Given the description of an element on the screen output the (x, y) to click on. 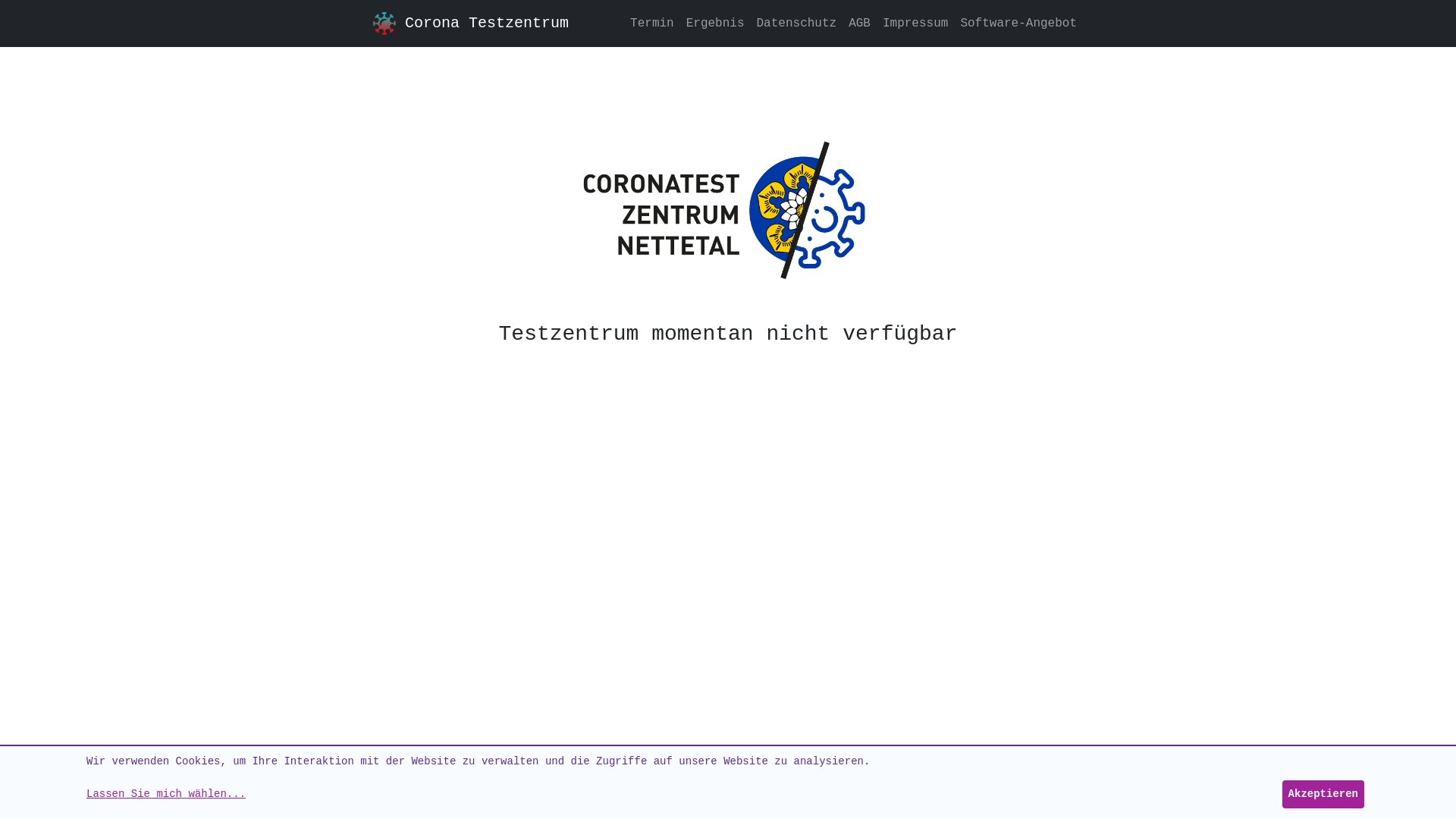
Corona Testzentrum Element type: text (486, 23)
Datenschutz Element type: text (796, 23)
Akzeptieren Element type: text (1323, 794)
Ergebnis Element type: text (715, 23)
Impressum Element type: text (914, 23)
Termin Element type: text (652, 23)
Software-Angebot Element type: text (1017, 23)
AGB Element type: text (859, 23)
